Given the description of an element on the screen output the (x, y) to click on. 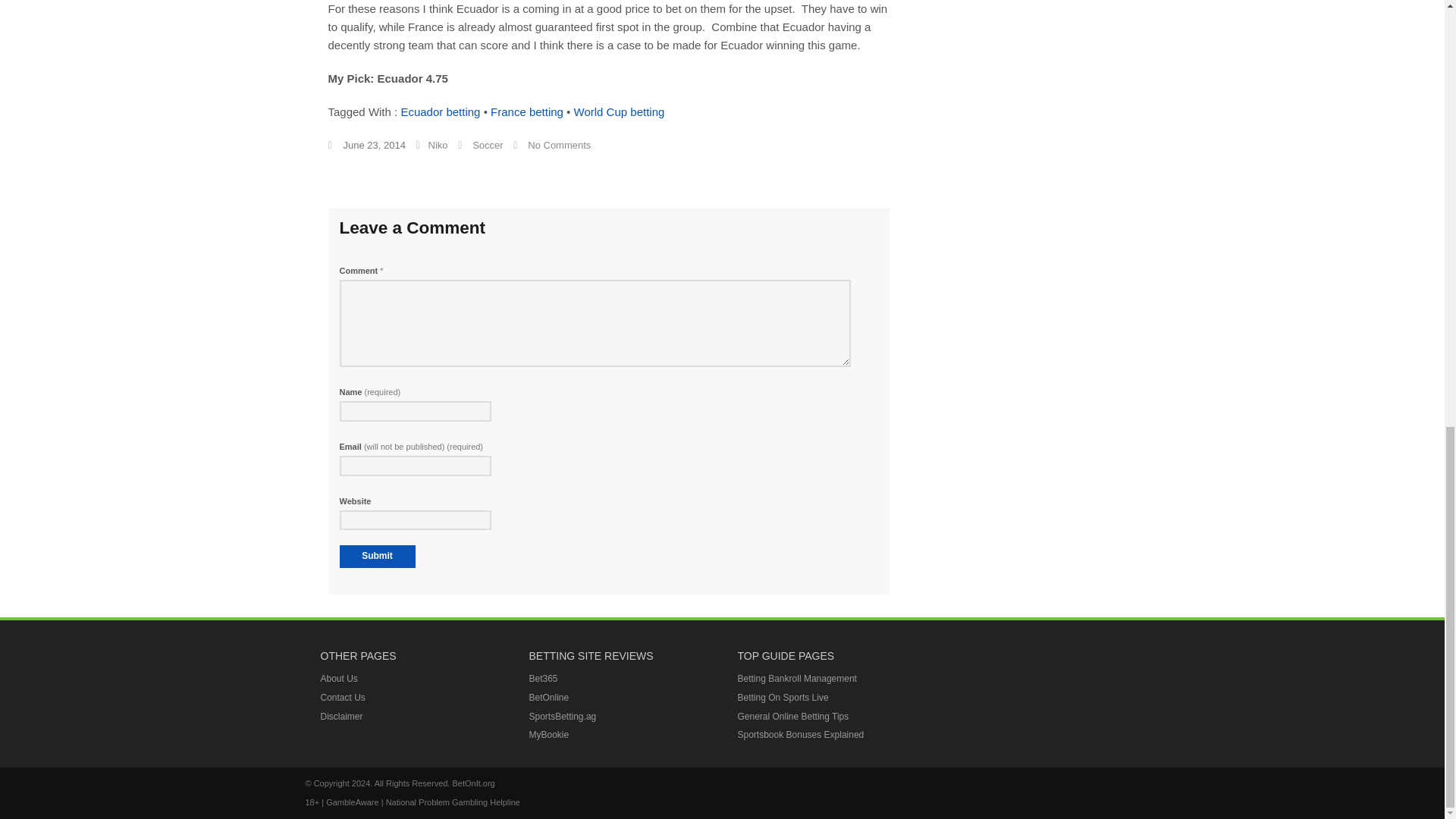
Submit (376, 556)
